Given the description of an element on the screen output the (x, y) to click on. 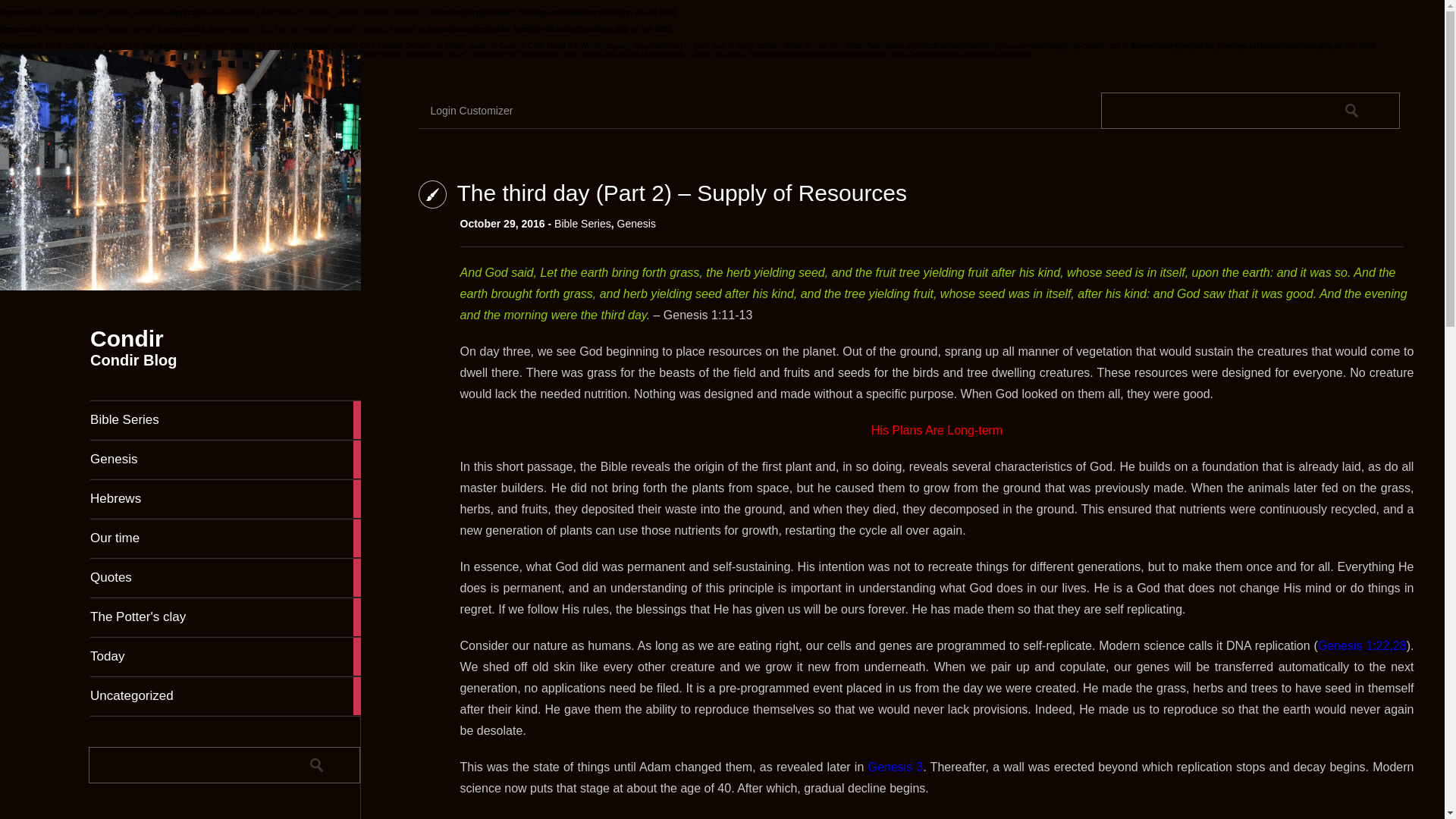
Bible Series (225, 419)
Genesis (636, 223)
Condir (126, 338)
Uncategorized (225, 695)
Quotes (225, 577)
Login Customizer (483, 110)
Our time (225, 537)
